Given the description of an element on the screen output the (x, y) to click on. 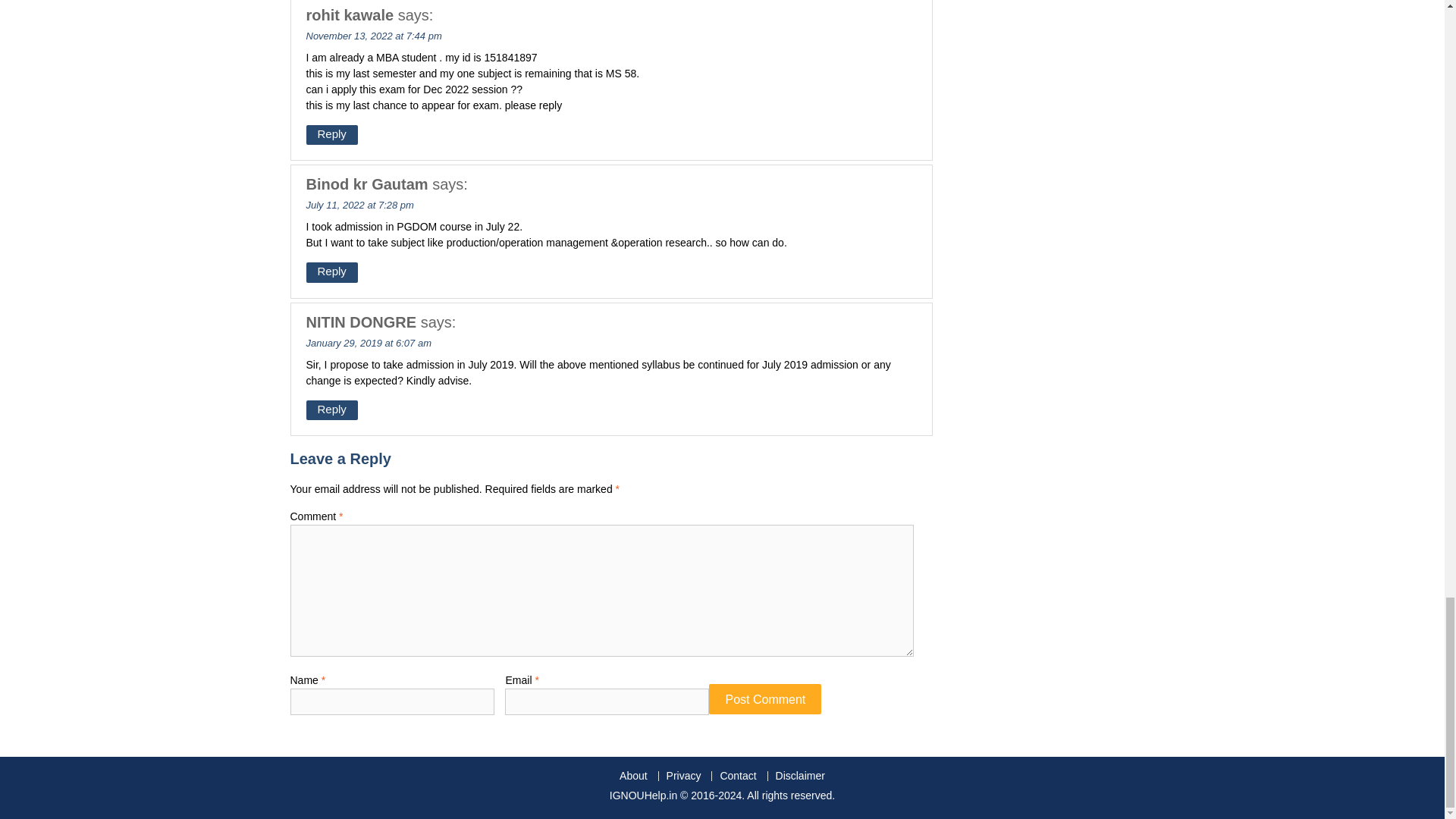
Post Comment (765, 698)
Reply (331, 409)
Reply (331, 272)
Reply (331, 135)
Post Comment (765, 698)
July 11, 2022 at 7:28 pm (359, 204)
November 13, 2022 at 7:44 pm (373, 34)
January 29, 2019 at 6:07 am (368, 342)
